Given the description of an element on the screen output the (x, y) to click on. 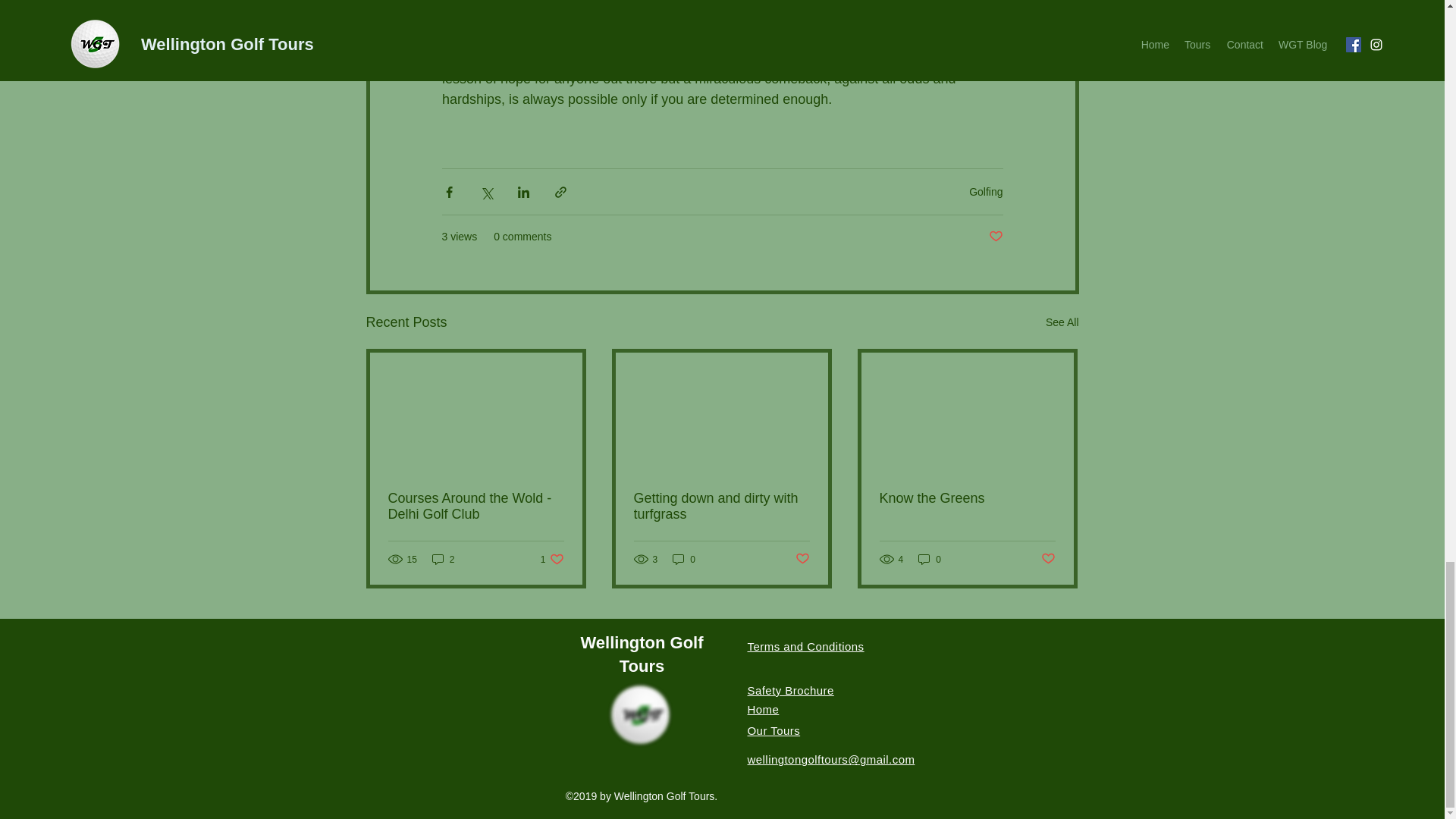
See All (1061, 322)
Wellington Golf Tours (641, 654)
0 (684, 559)
Our Tours (774, 730)
Golfing (552, 559)
Safety Brochure (986, 191)
Home (791, 689)
2 (763, 708)
Post not marked as liked (443, 559)
